Given the description of an element on the screen output the (x, y) to click on. 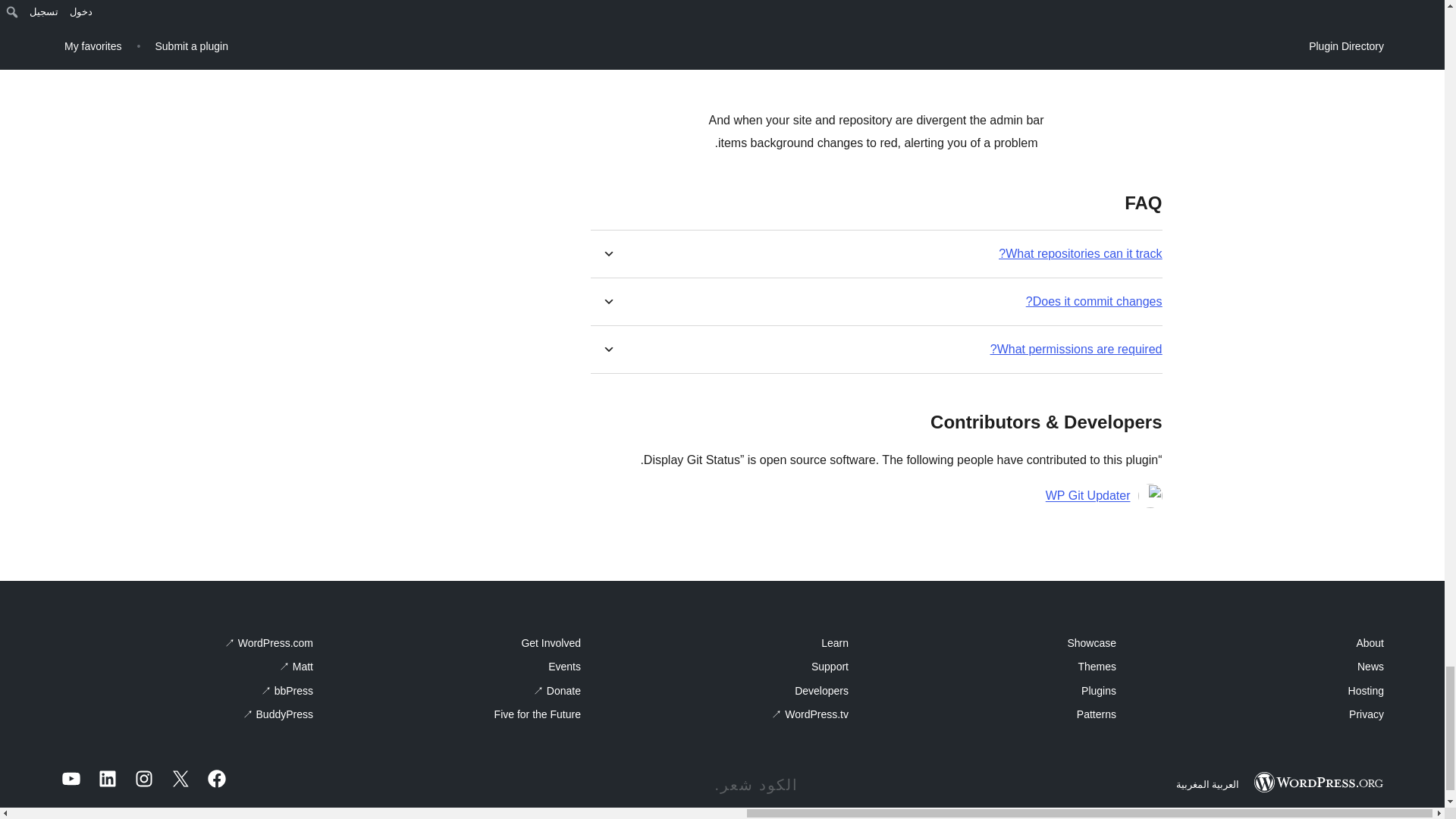
What repositories can it track? (1079, 253)
WordPress.org (1318, 782)
Does it commit changes? (1093, 301)
What permissions are required? (1075, 349)
